Given the description of an element on the screen output the (x, y) to click on. 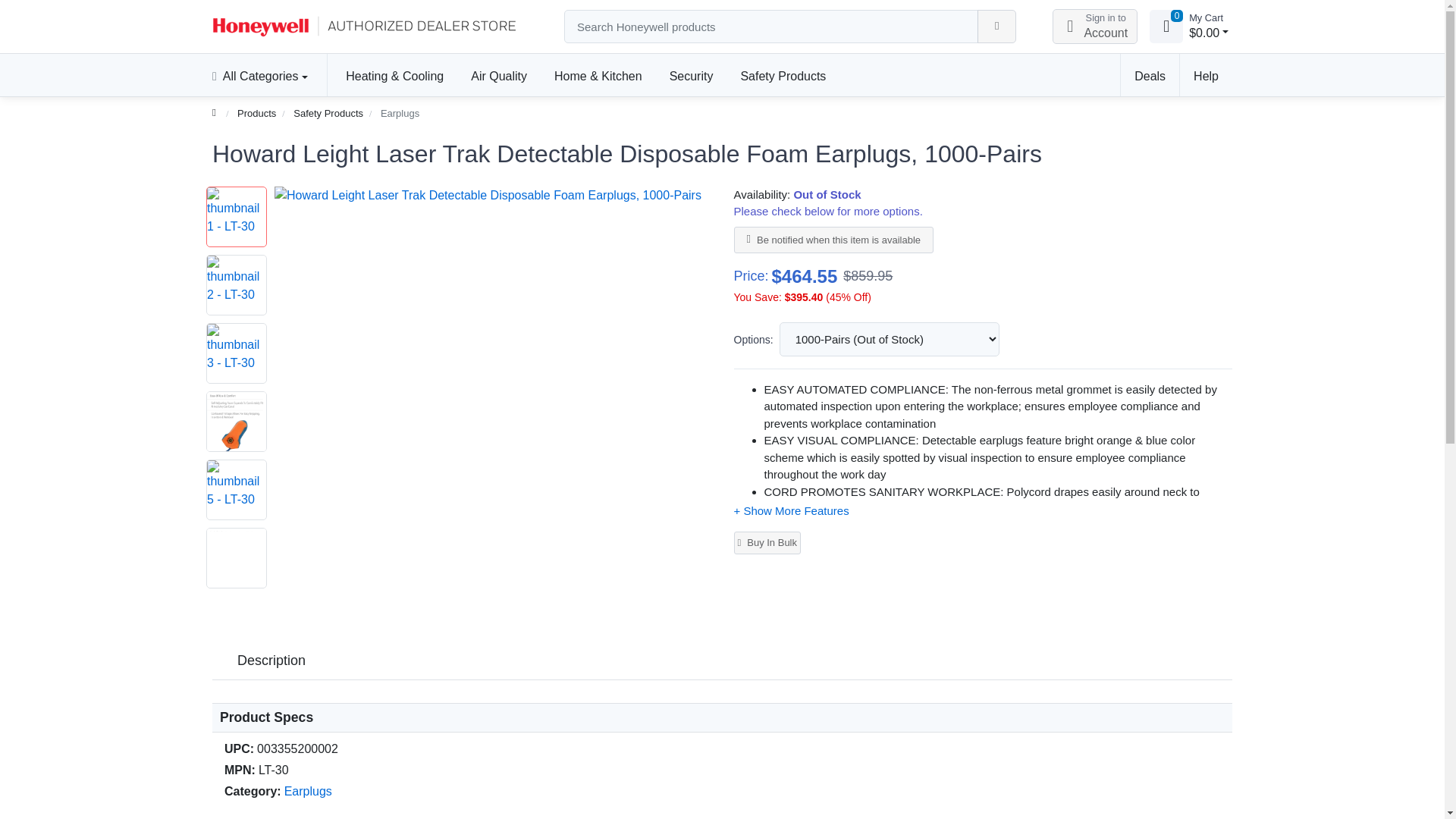
View All Earplugs (307, 790)
0 (1094, 26)
All Categories (1166, 26)
